Given the description of an element on the screen output the (x, y) to click on. 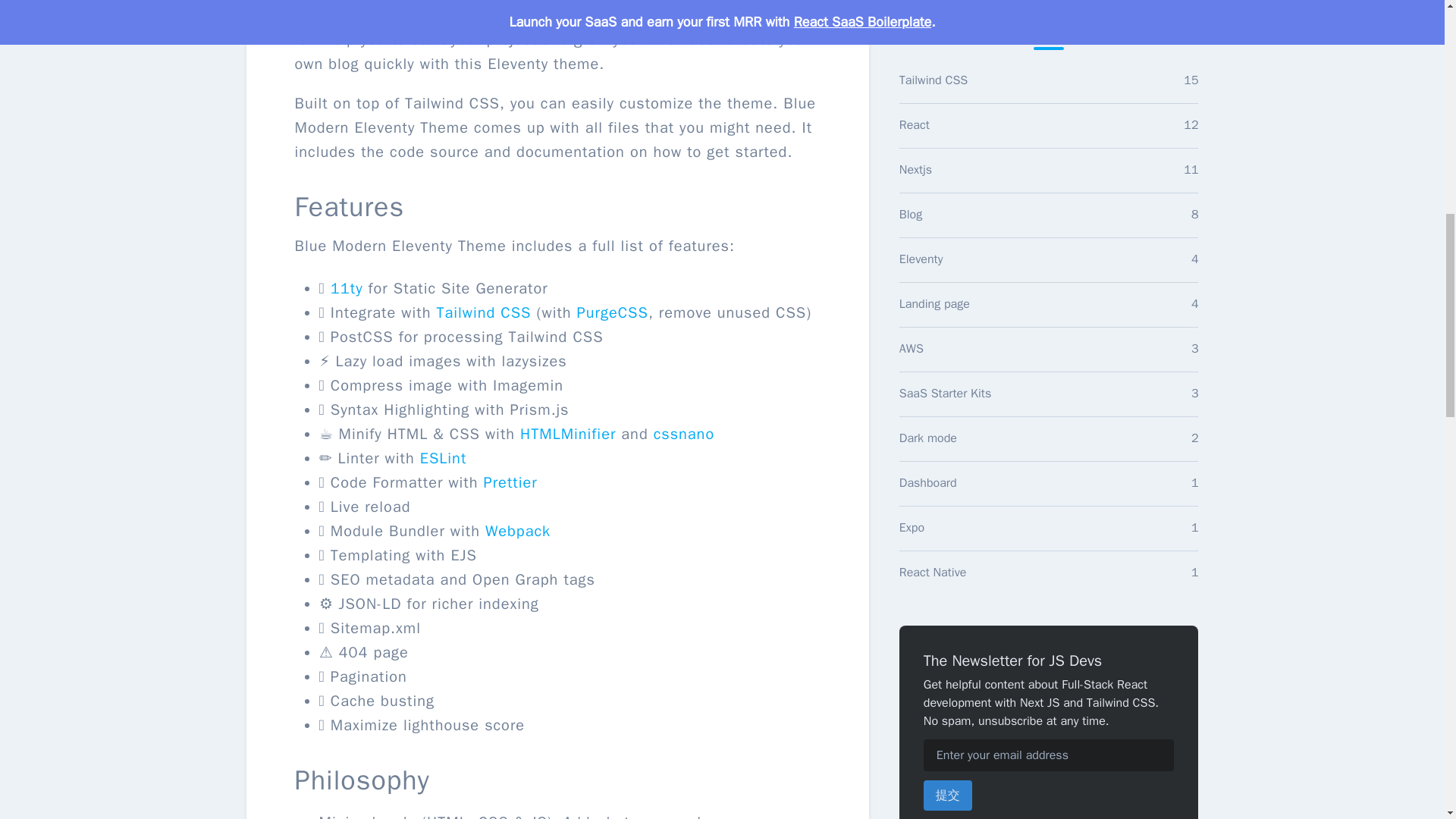
ESLint (443, 457)
Webpack (1048, 438)
